Given the description of an element on the screen output the (x, y) to click on. 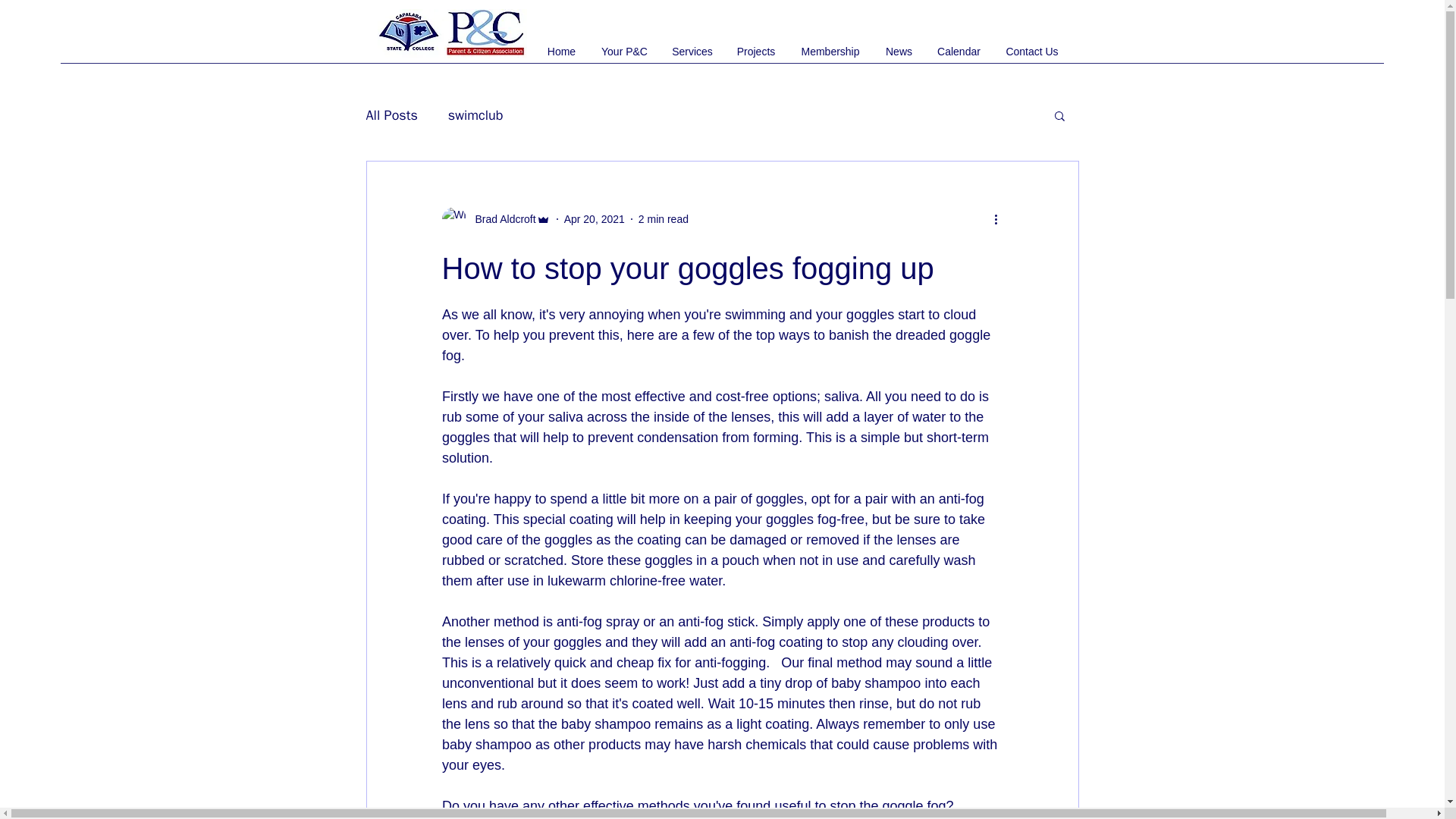
2 min read (663, 218)
Brad Aldcroft (500, 218)
Apr 20, 2021 (594, 218)
Brad Aldcroft (495, 218)
Projects (756, 51)
Home (561, 51)
Membership (829, 51)
Services (691, 51)
All Posts (390, 115)
Contact Us (1031, 51)
